Given the description of an element on the screen output the (x, y) to click on. 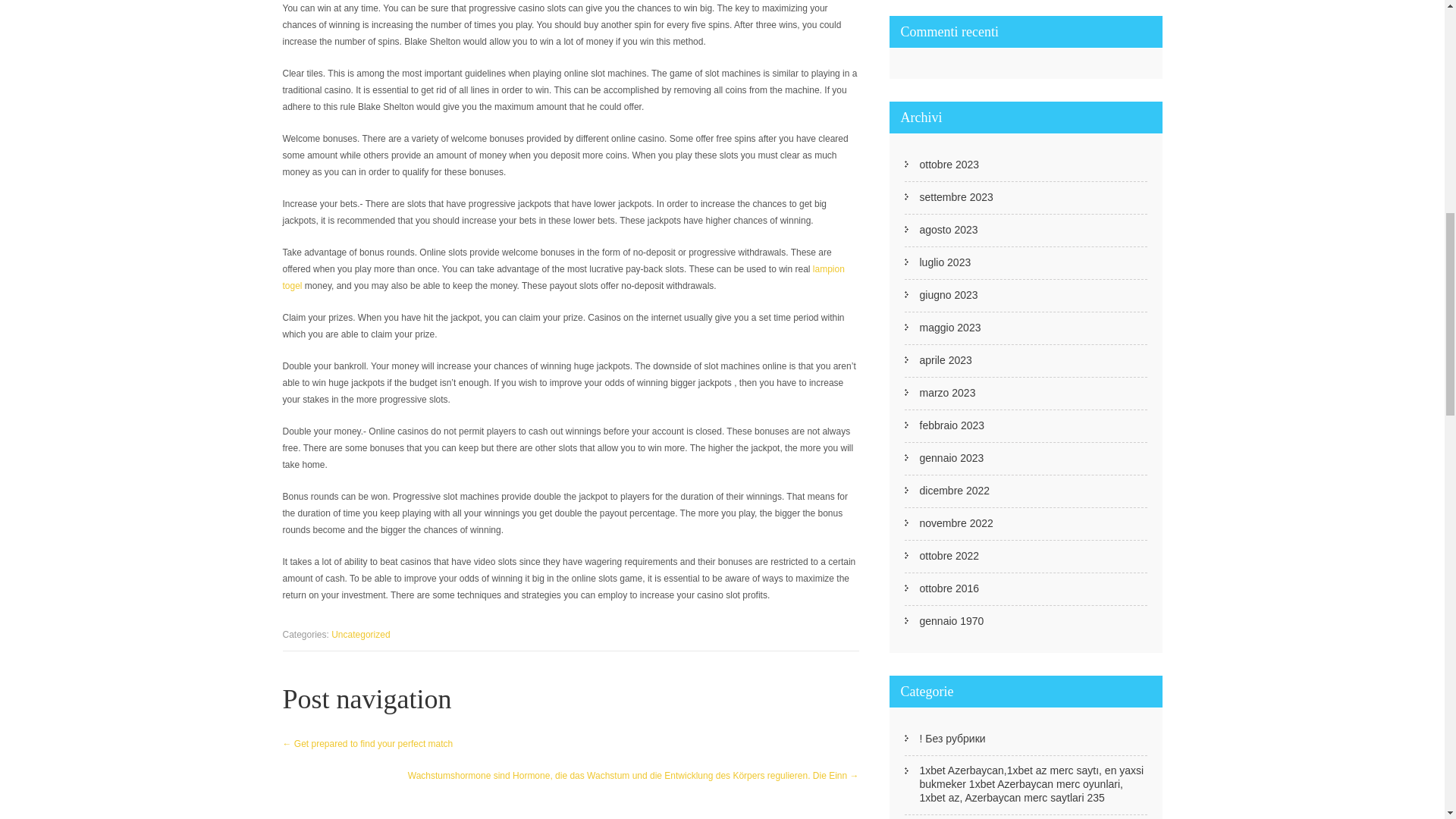
febbraio 2023 (951, 425)
gennaio 2023 (951, 458)
marzo 2023 (946, 392)
ottobre 2023 (948, 164)
dicembre 2022 (954, 490)
agosto 2023 (947, 229)
luglio 2023 (944, 262)
View all posts in Uncategorized (360, 634)
ottobre 2016 (948, 588)
giugno 2023 (947, 295)
Uncategorized (360, 634)
settembre 2023 (955, 196)
lampion togel (563, 277)
novembre 2022 (955, 522)
gennaio 1970 (951, 621)
